Given the description of an element on the screen output the (x, y) to click on. 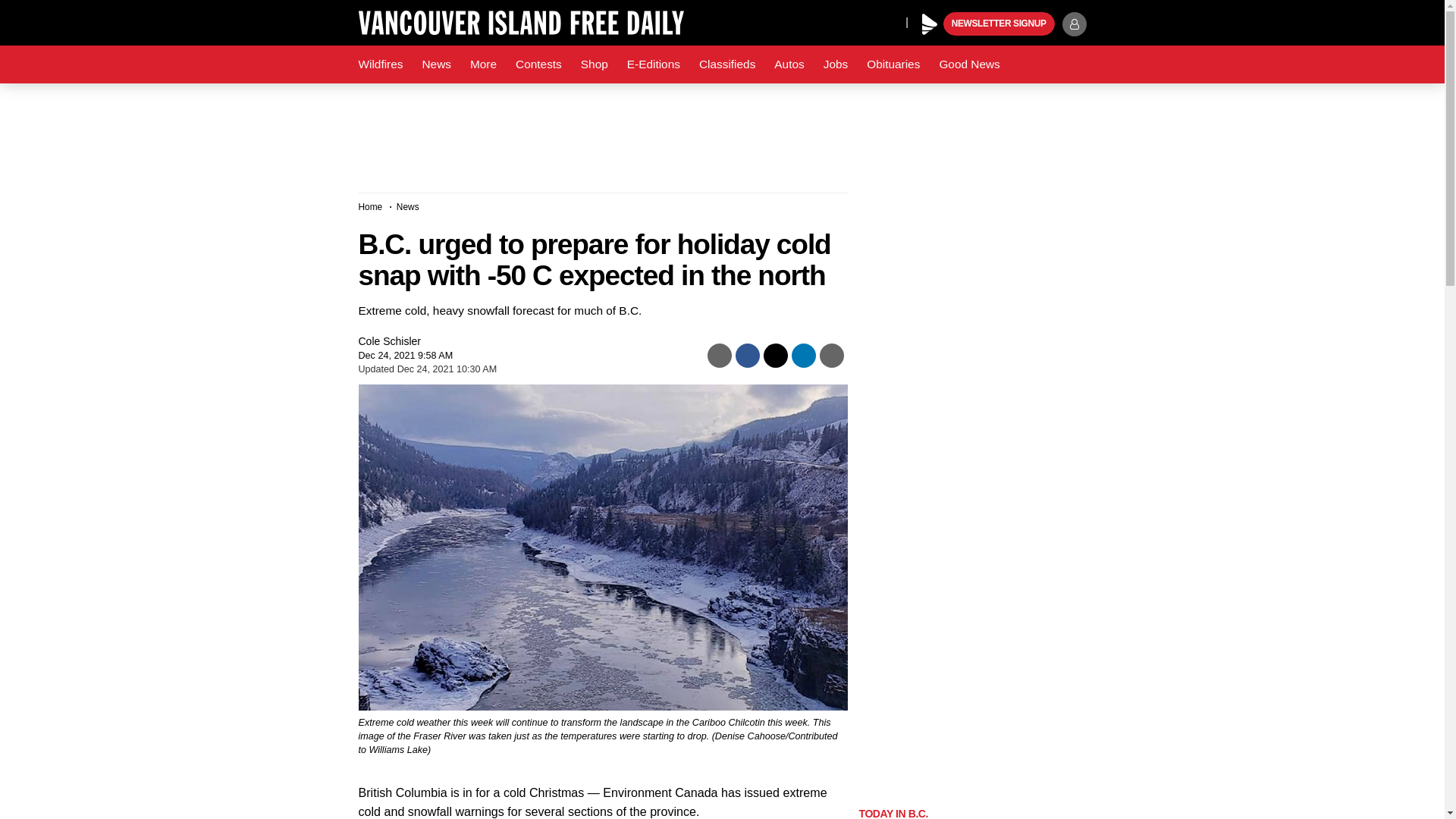
News (435, 64)
Black Press Media (929, 24)
Facebook (823, 21)
X (853, 21)
Wildfires (380, 64)
Instagram (889, 21)
NEWSLETTER SIGNUP (998, 24)
Play (929, 24)
